Given the description of an element on the screen output the (x, y) to click on. 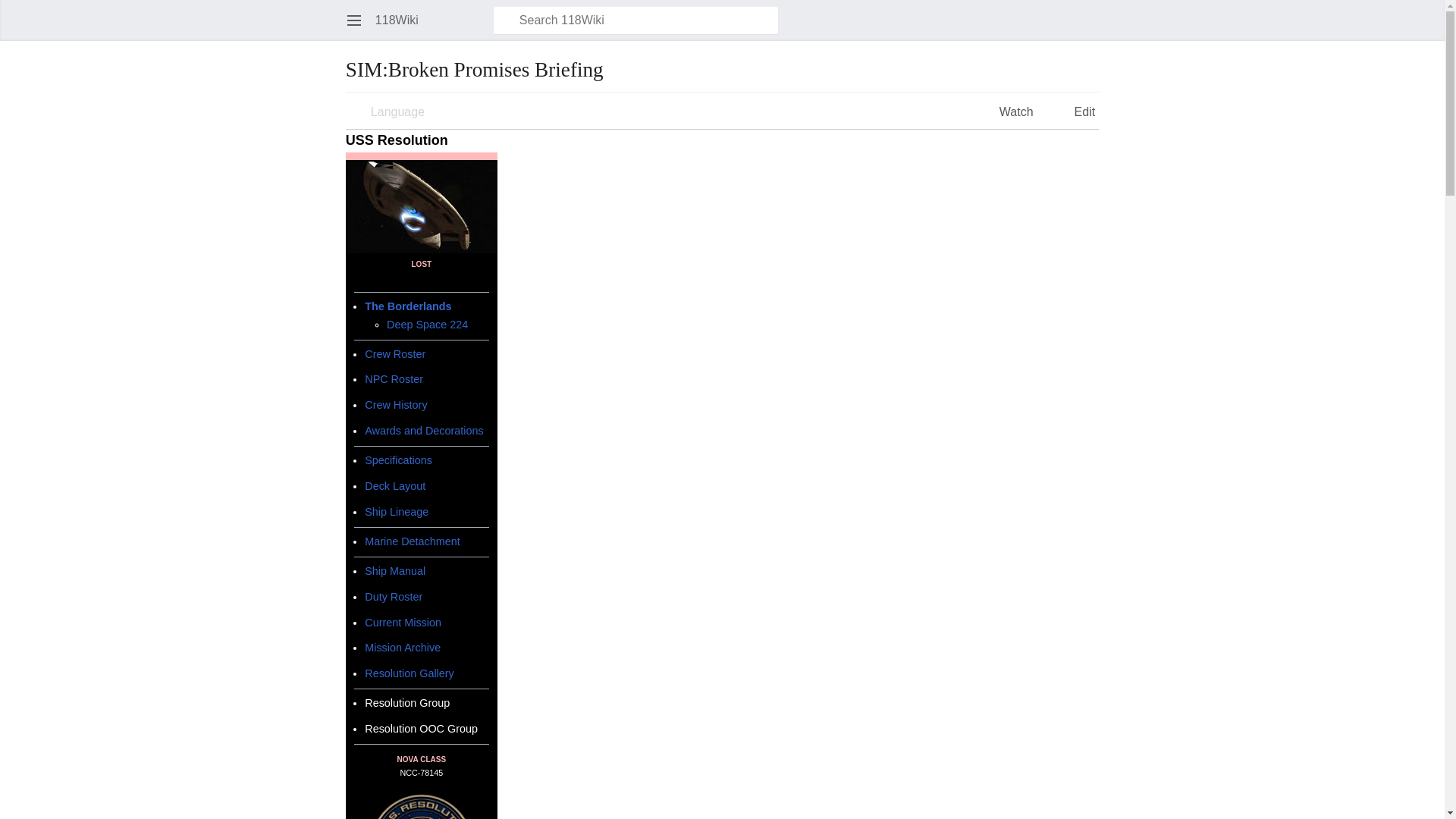
The Borderlands (408, 306)
Ship Lineage (396, 511)
Deck Layout (395, 485)
Resolution Crew (395, 354)
USS Resolution Specifications (398, 460)
NPC Roster (394, 378)
Crew Roster (395, 354)
Current Mission (403, 621)
USS Resolution Ship Lineage (396, 511)
The Borderlands (408, 306)
